Given the description of an element on the screen output the (x, y) to click on. 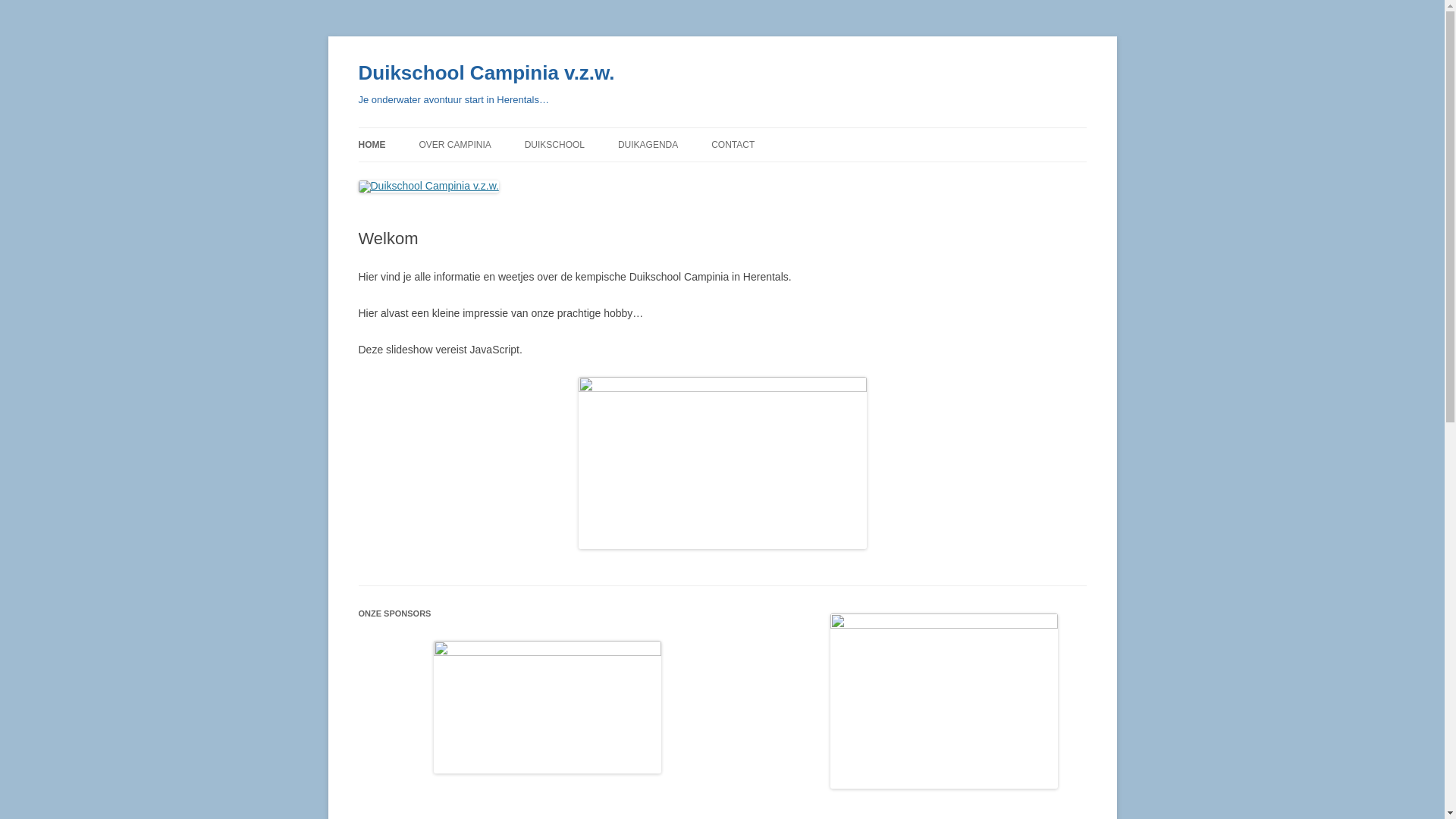
DUIKAGENDA Element type: text (647, 144)
LEER DUIKEN Element type: text (600, 176)
OVER CAMPINIA Element type: text (454, 144)
WIE ZIJN WIJ? Element type: text (494, 176)
HOME Element type: text (371, 144)
CONTACT Element type: text (732, 144)
Ga naar de inhoud Element type: text (721, 127)
Duikschool Campinia v.z.w. Element type: text (485, 72)
DUIKSCHOOL Element type: text (554, 144)
Onze sponsors Element type: hover (547, 706)
